Given the description of an element on the screen output the (x, y) to click on. 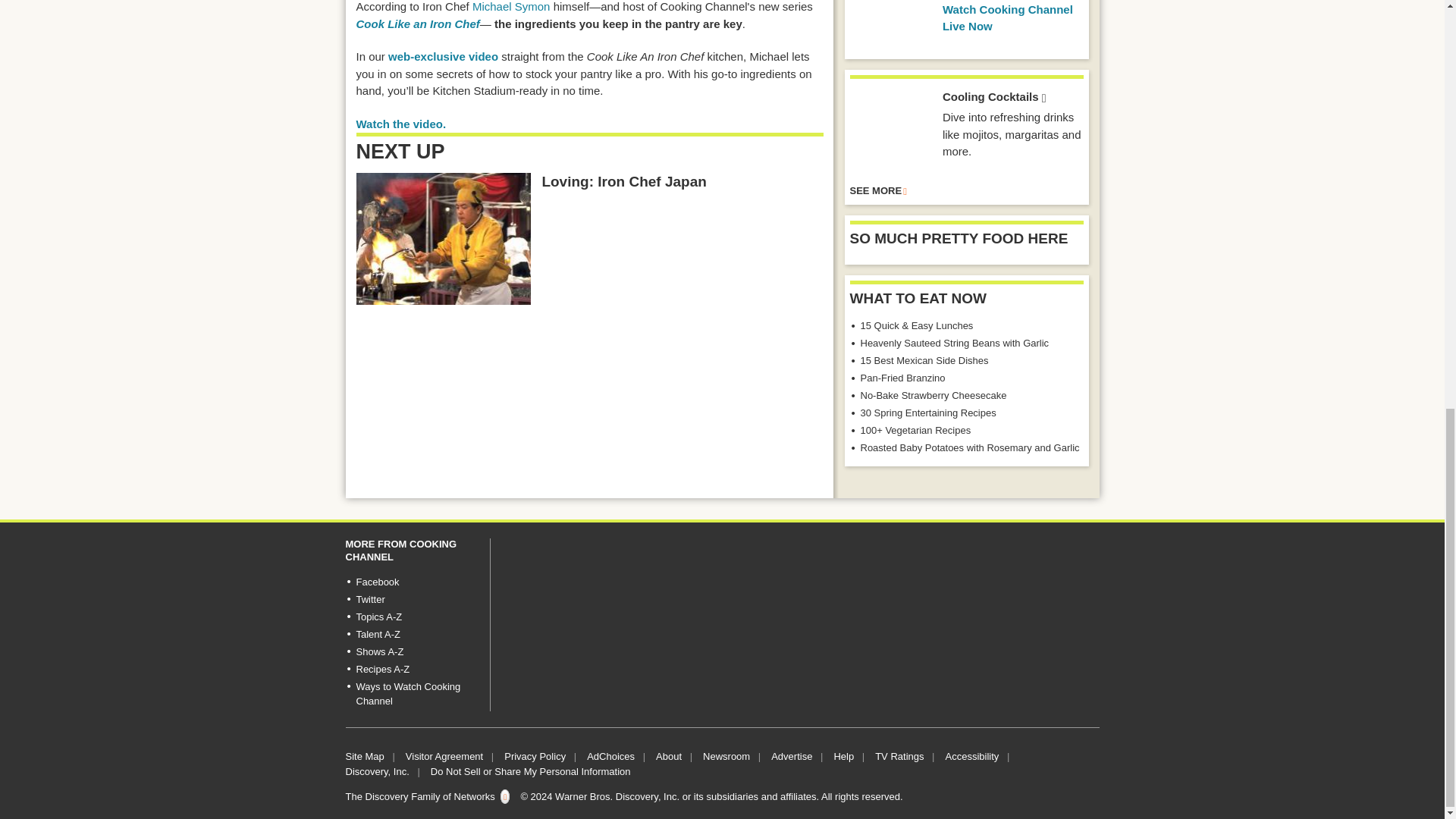
Michael Symon (510, 6)
Cook Like an Iron Chef (418, 23)
web-exclusive video (442, 56)
Watch the video. (401, 123)
Loving:  Iron Chef Japan (443, 238)
Cooling Cocktails (889, 130)
